Given the description of an element on the screen output the (x, y) to click on. 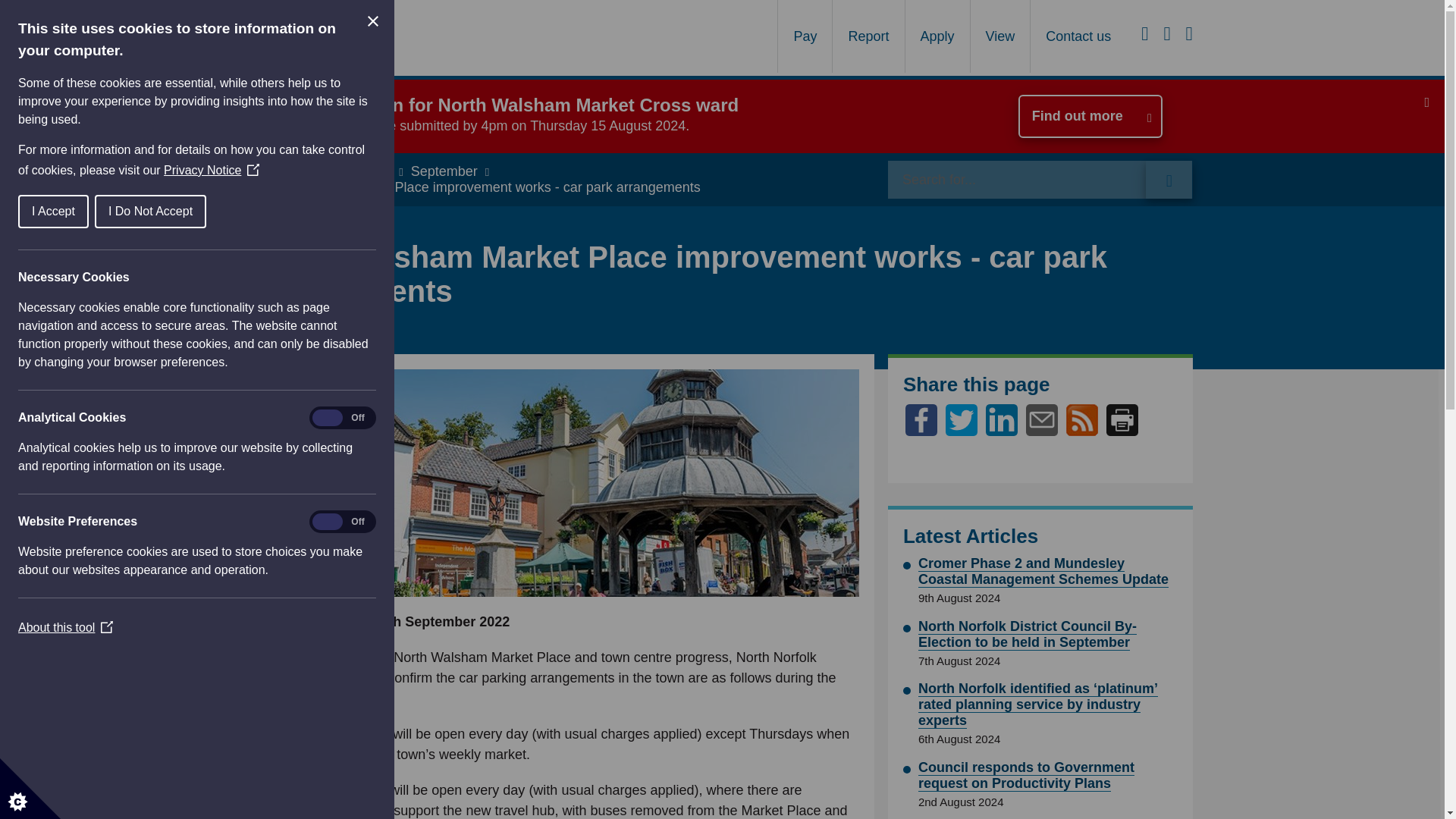
Tweet (960, 431)
List of Pay Type Tasks (804, 36)
Home (279, 171)
Print this page (1122, 419)
List of View Type Tasks (999, 36)
Contact us (1077, 36)
Search (1040, 179)
News (334, 171)
View (999, 36)
Share on Facebook (921, 431)
